Given the description of an element on the screen output the (x, y) to click on. 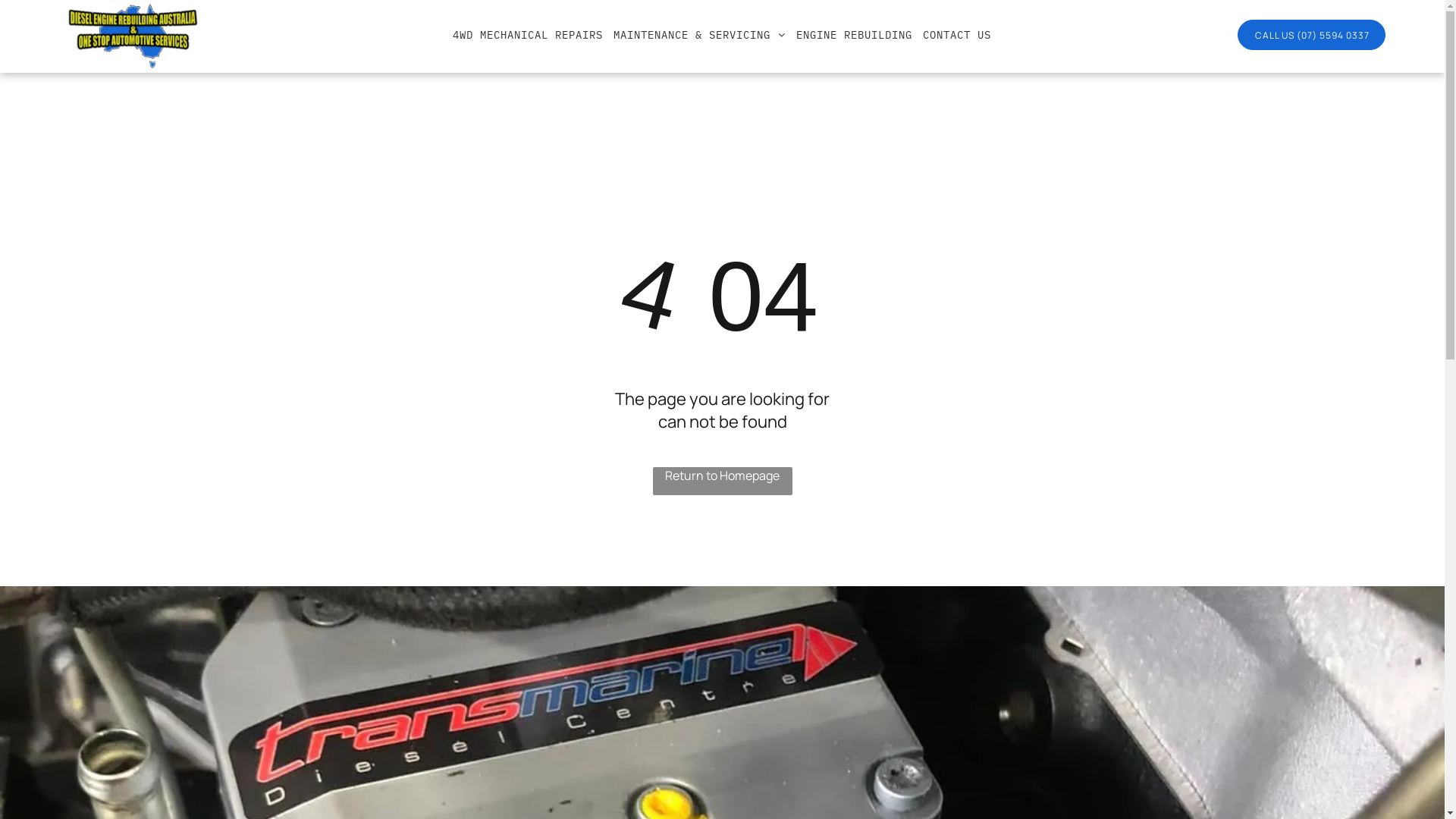
ENGINE REBUILDING Element type: text (853, 34)
4WD MECHANICAL REPAIRS Element type: text (527, 34)
CONTACT US Element type: text (956, 34)
MAINTENANCE & SERVICING Element type: text (699, 34)
Return to Homepage Element type: text (721, 481)
CALL US (07) 5594 0337 Element type: text (1311, 34)
